Given the description of an element on the screen output the (x, y) to click on. 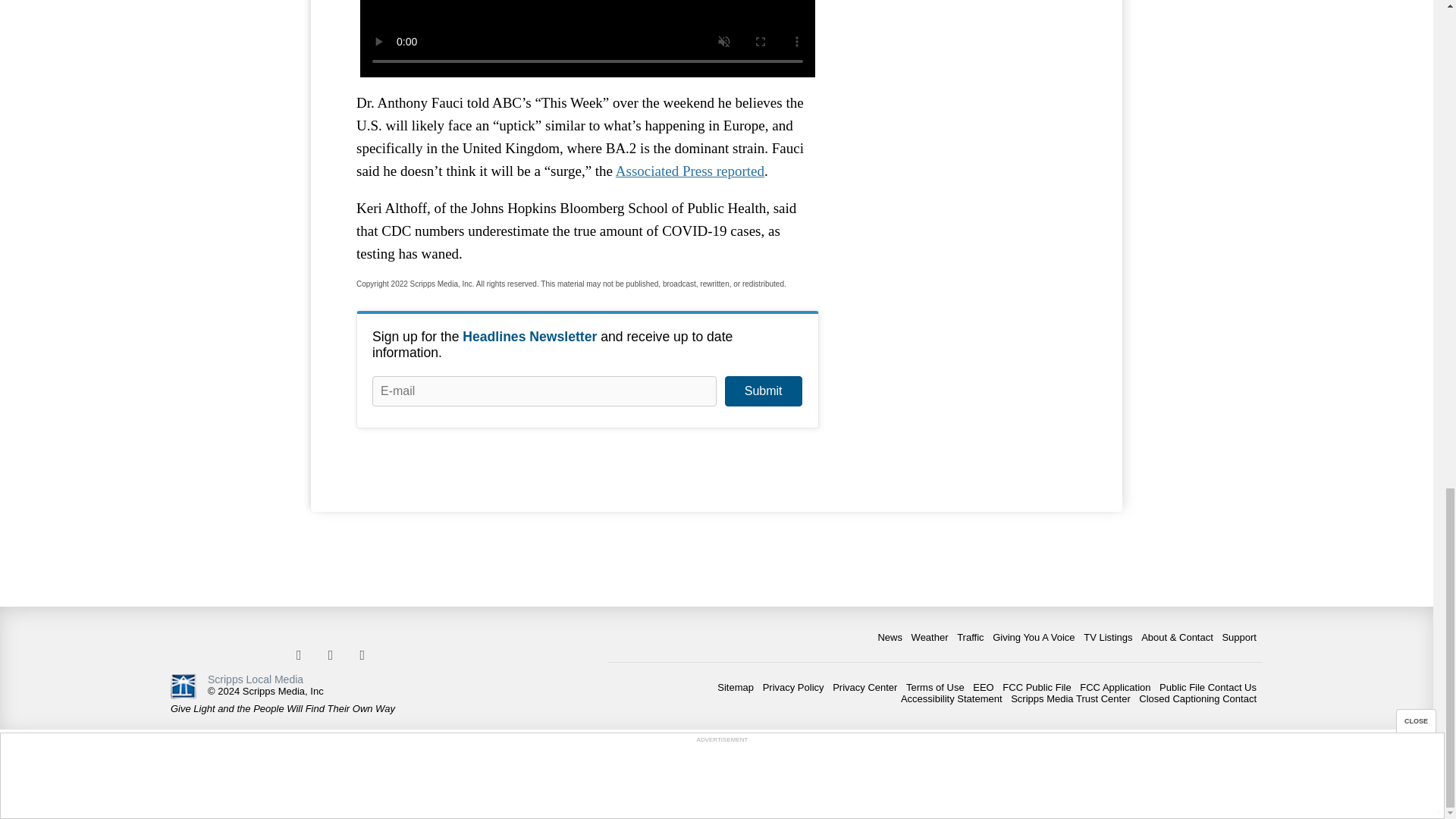
Submit (763, 390)
